Given the description of an element on the screen output the (x, y) to click on. 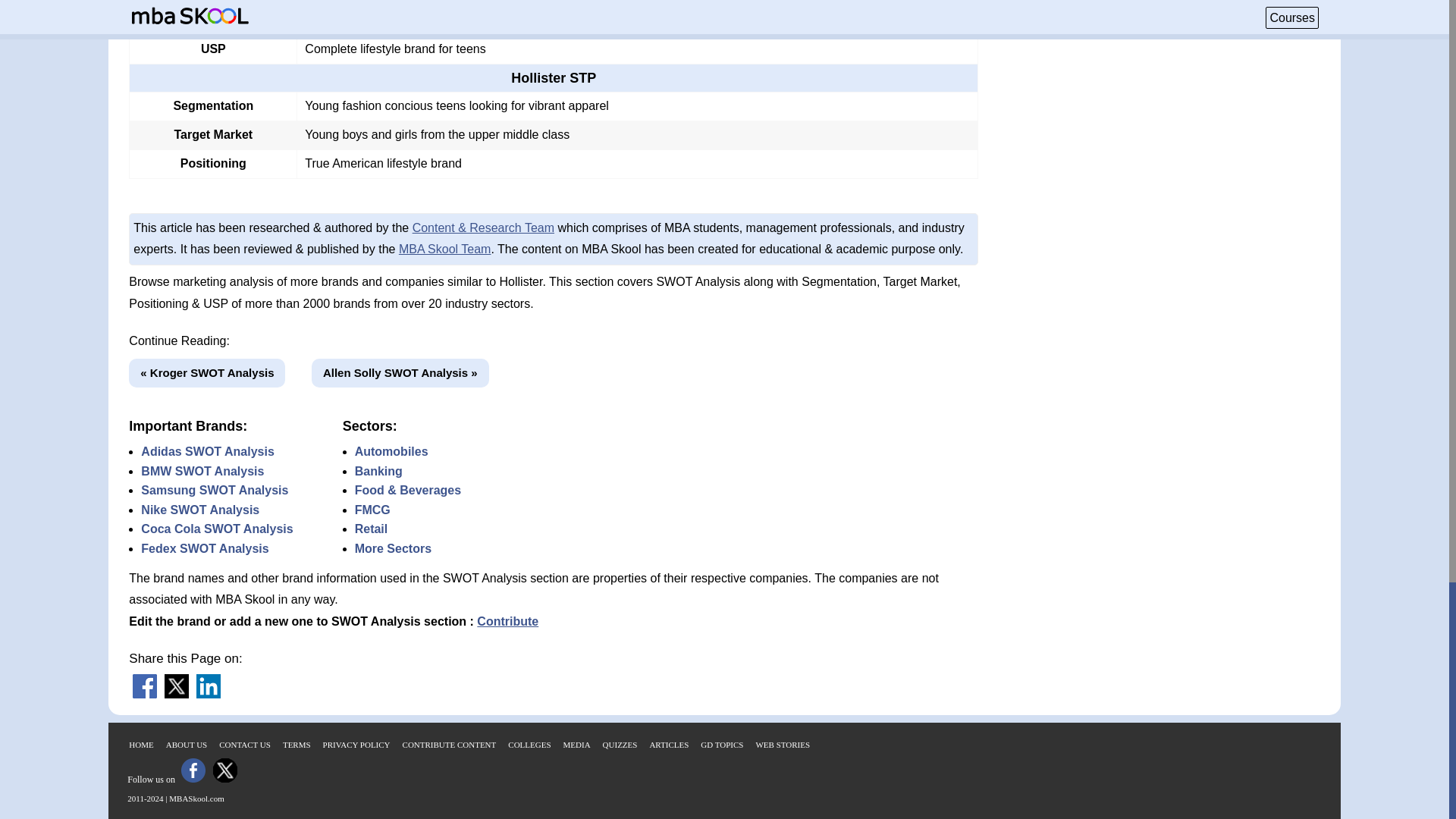
More Sectors (392, 548)
Automobiles (391, 451)
Allen Solly SWOT Analysis (400, 373)
Retail (371, 528)
Fedex SWOT Analysis (204, 548)
FMCG (372, 509)
Share on Linkedin (208, 694)
Samsung SWOT Analysis (214, 490)
BMW SWOT Analysis (202, 471)
MBA Skool Team (445, 248)
Facebook Share (144, 694)
Coca Cola SWOT Analysis (216, 528)
Banking (379, 471)
Tweet (176, 694)
Nike SWOT Analysis (200, 509)
